Given the description of an element on the screen output the (x, y) to click on. 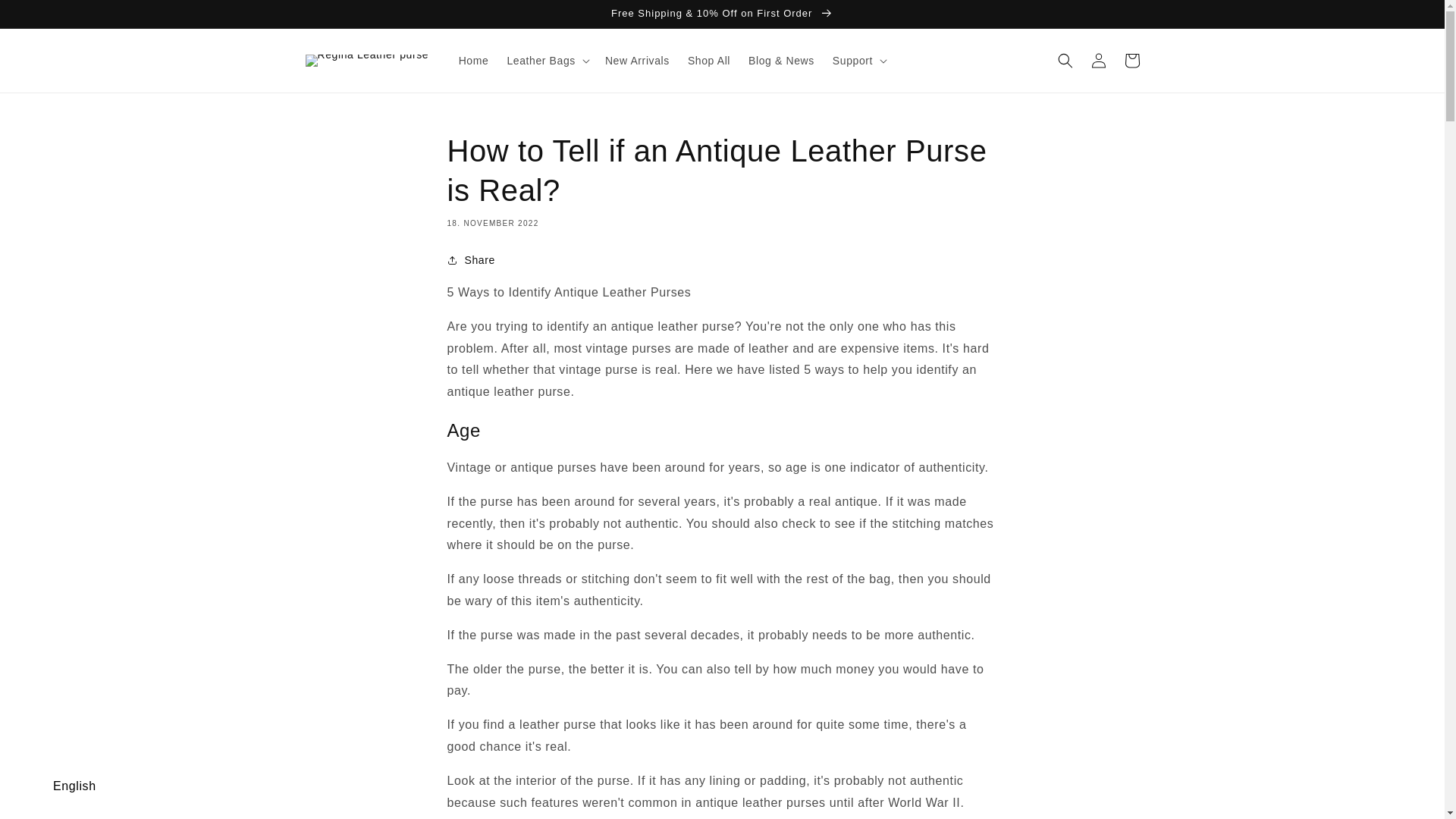
Einloggen (1098, 60)
New Arrivals (636, 60)
Home (473, 60)
Shop All (708, 60)
Direkt zum Inhalt (45, 17)
Warenkorb (1131, 60)
